Given the description of an element on the screen output the (x, y) to click on. 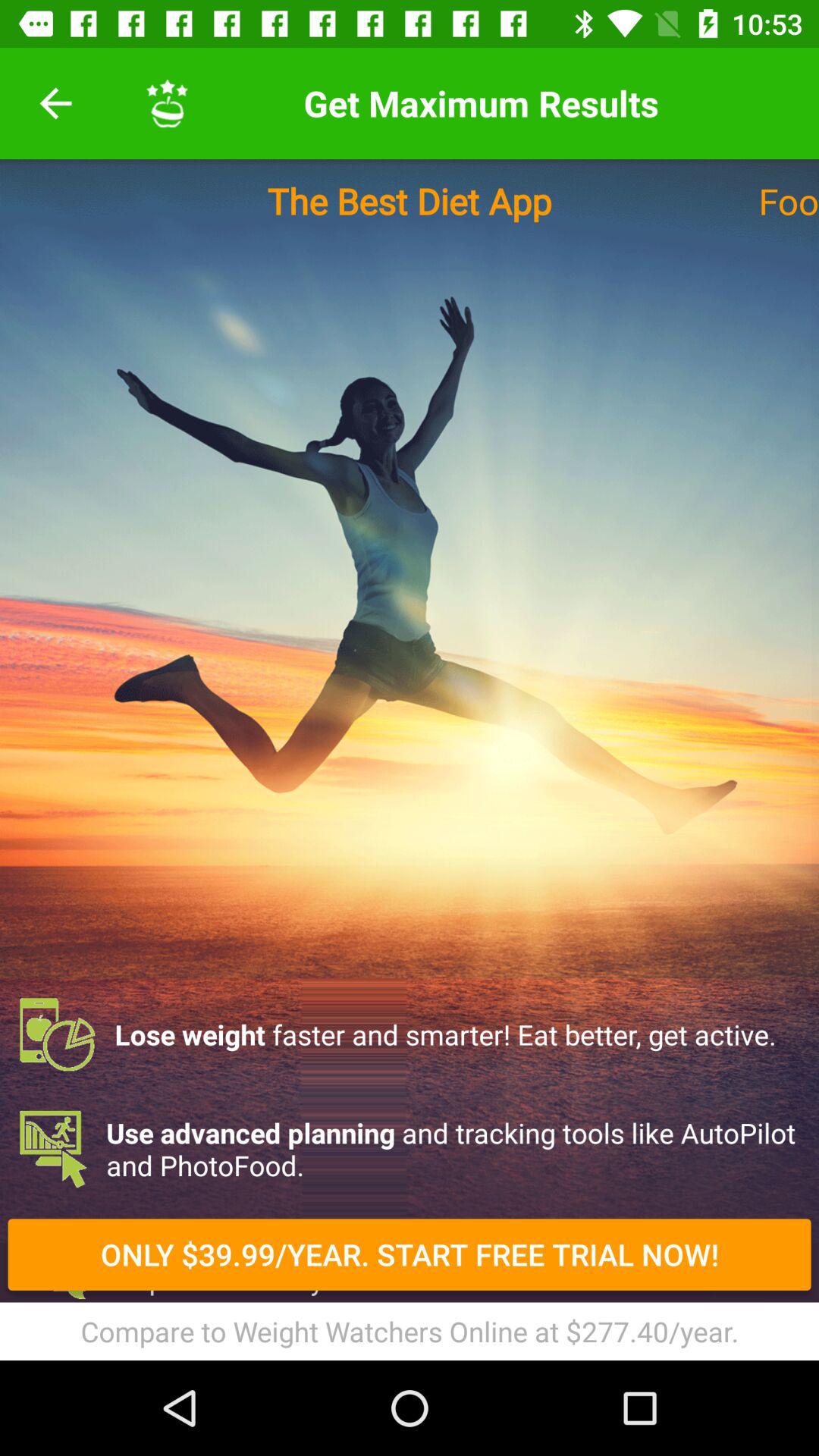
swipe to link your diary icon (409, 1339)
